Given the description of an element on the screen output the (x, y) to click on. 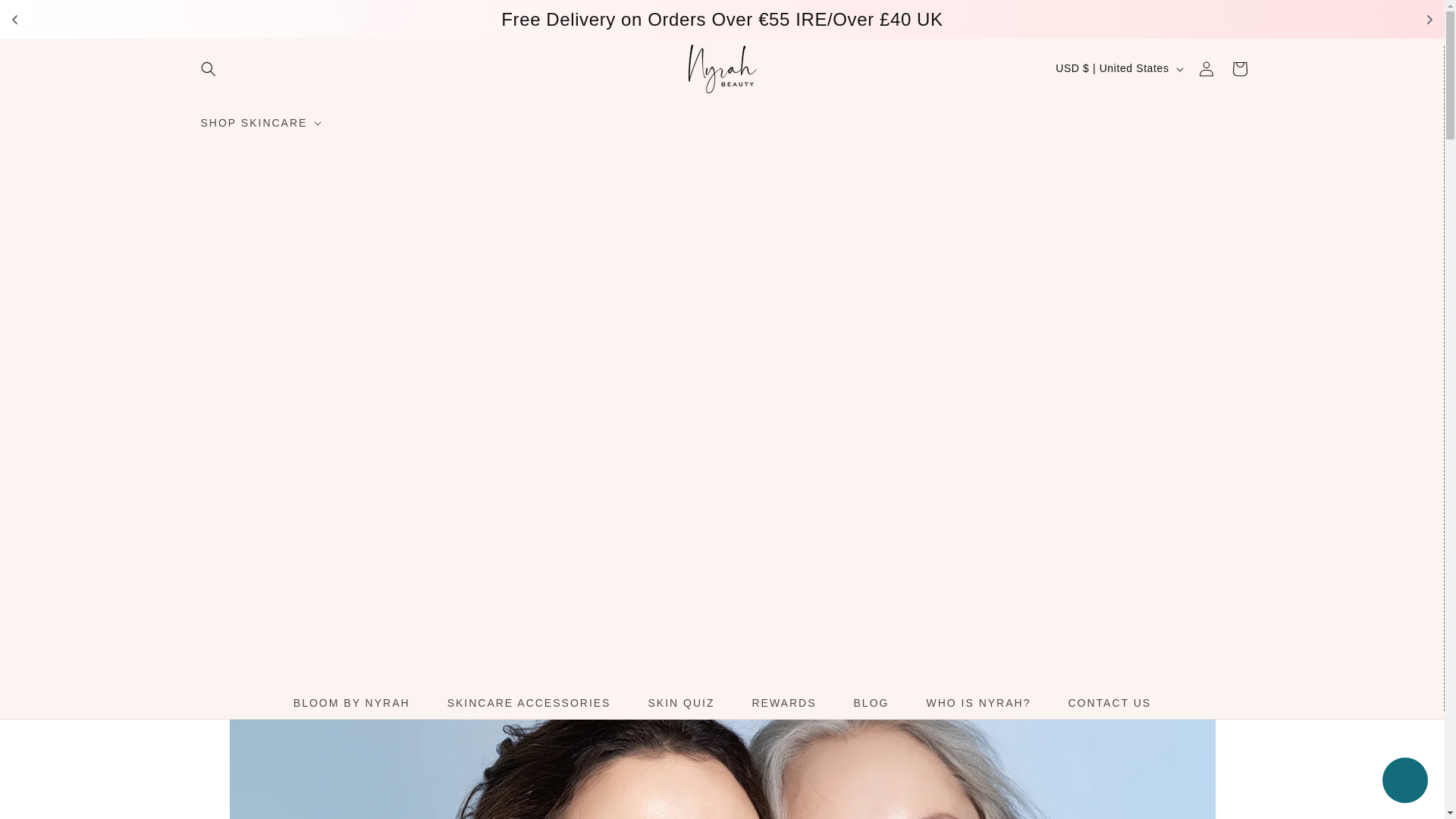
SKIN QUIZ (681, 703)
Skip to content (45, 17)
SKINCARE ACCESSORIES (529, 703)
REWARDS (783, 703)
BLOOM BY NYRAH (351, 703)
Shopify online store chat (1404, 781)
